Given the description of an element on the screen output the (x, y) to click on. 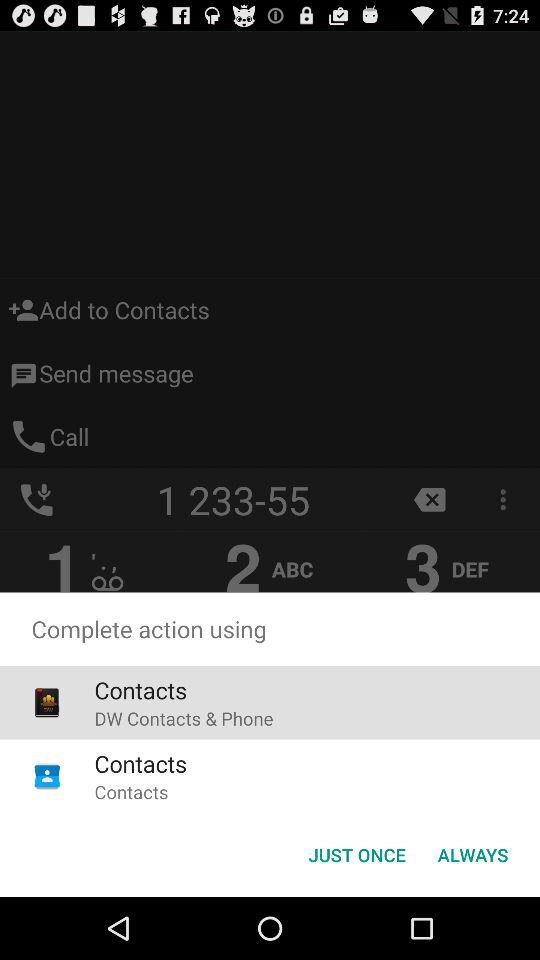
scroll until always button (472, 854)
